Given the description of an element on the screen output the (x, y) to click on. 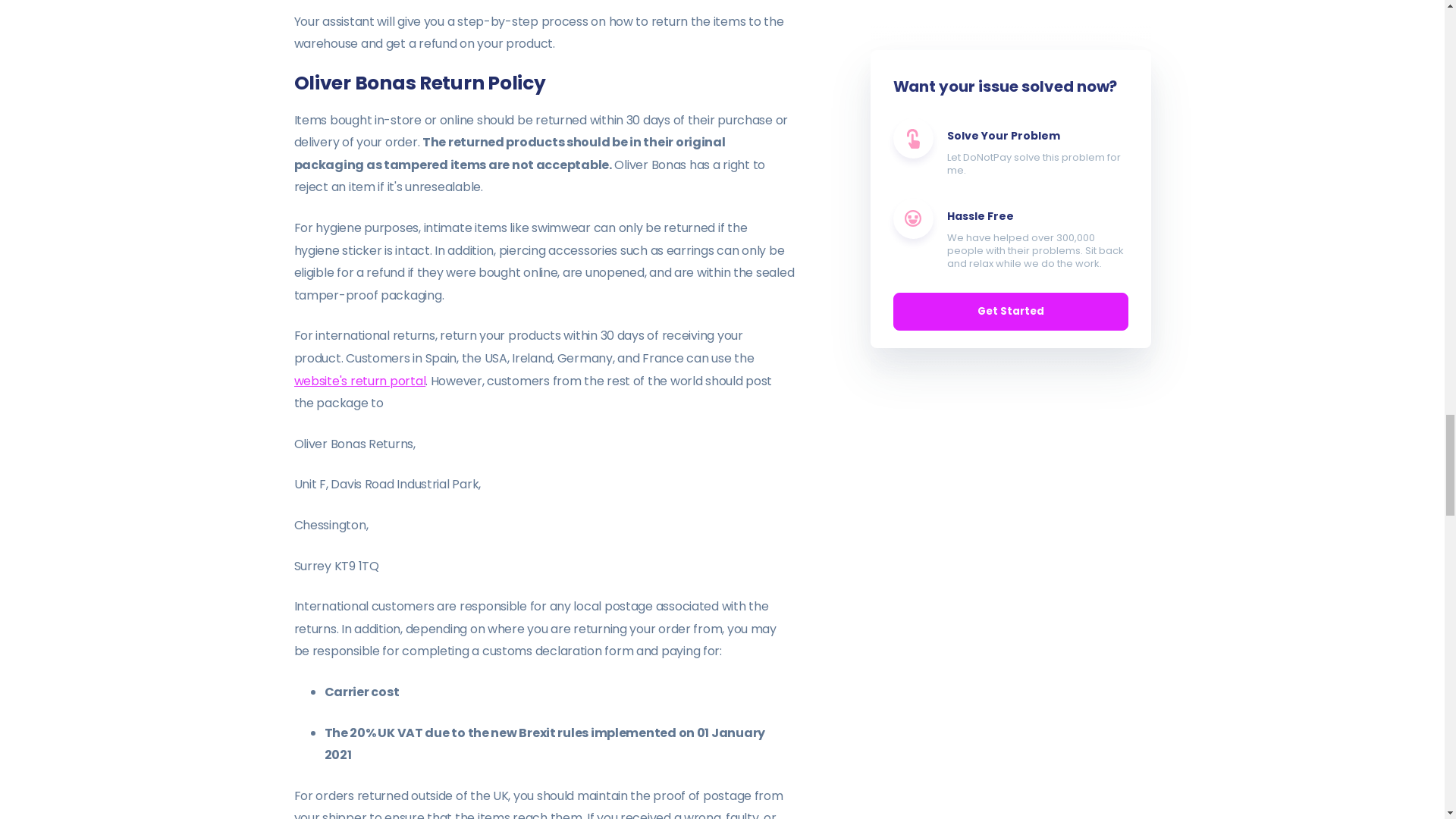
website's return portal (360, 380)
